Given the description of an element on the screen output the (x, y) to click on. 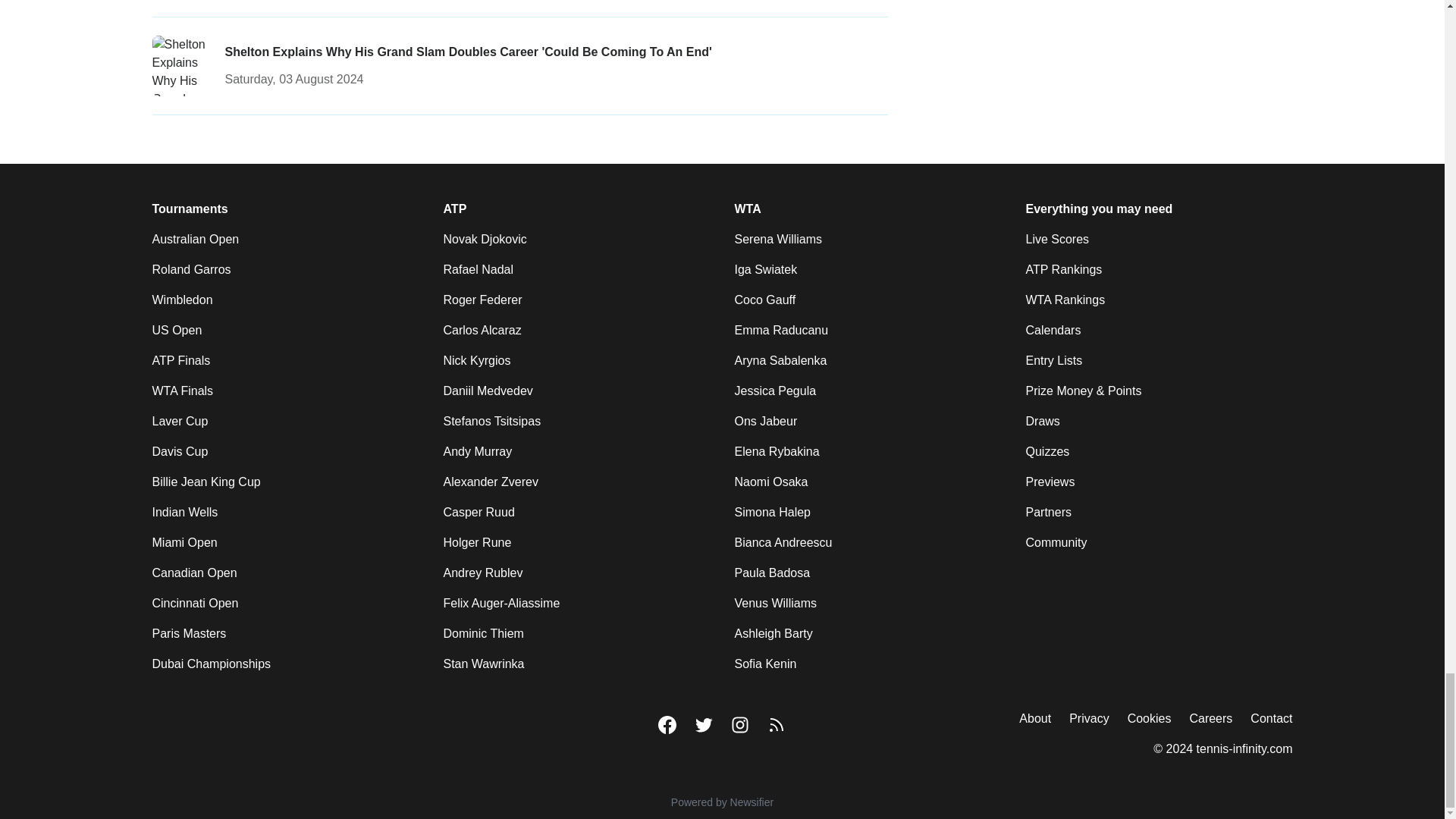
Cookies (1149, 719)
ATP (453, 208)
Privacy (1088, 719)
Newsifier (722, 802)
Contact (1271, 719)
WTA (746, 208)
About (1035, 719)
Careers (1210, 719)
